Given the description of an element on the screen output the (x, y) to click on. 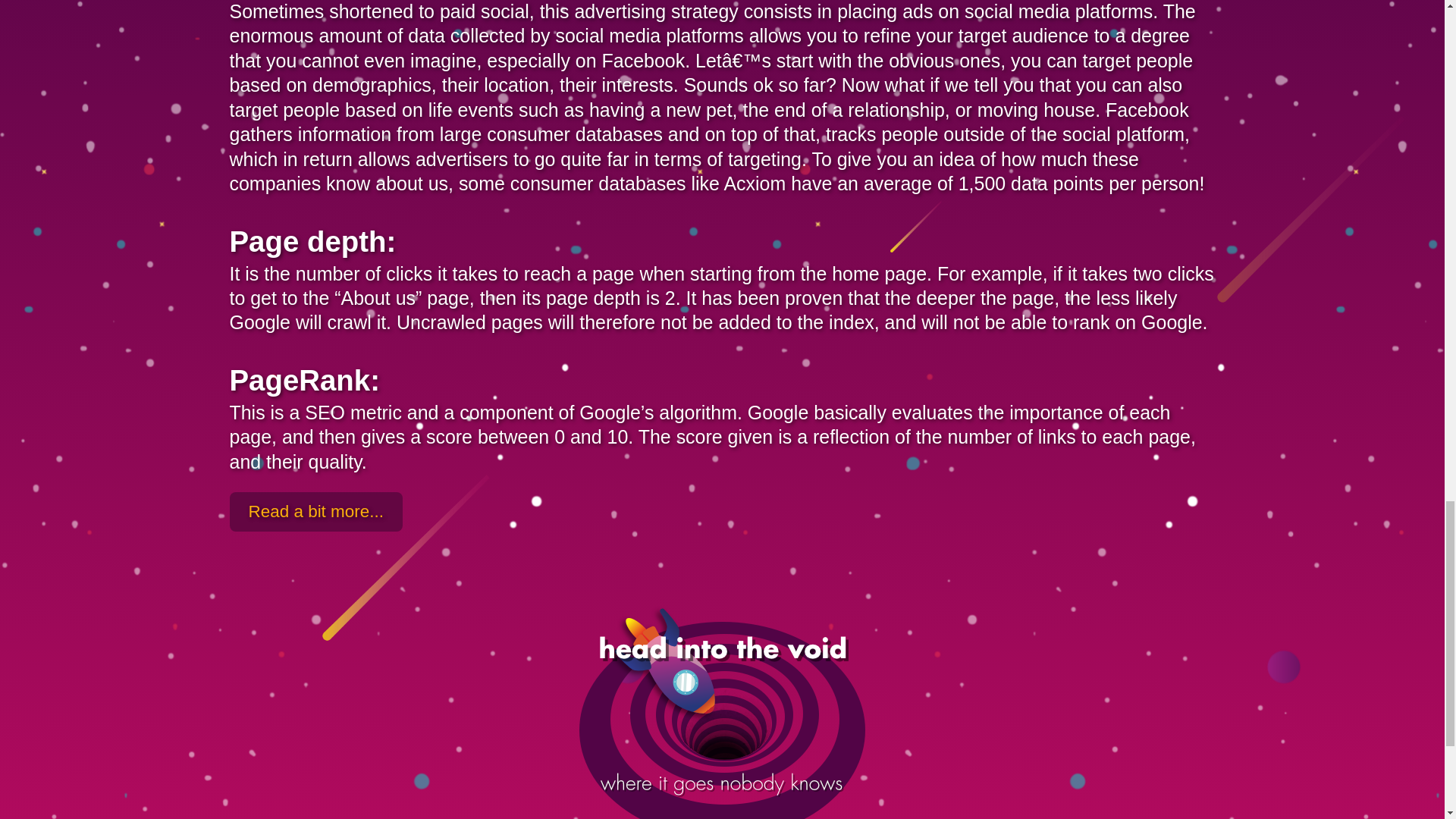
Read a bit more... (314, 511)
